Given the description of an element on the screen output the (x, y) to click on. 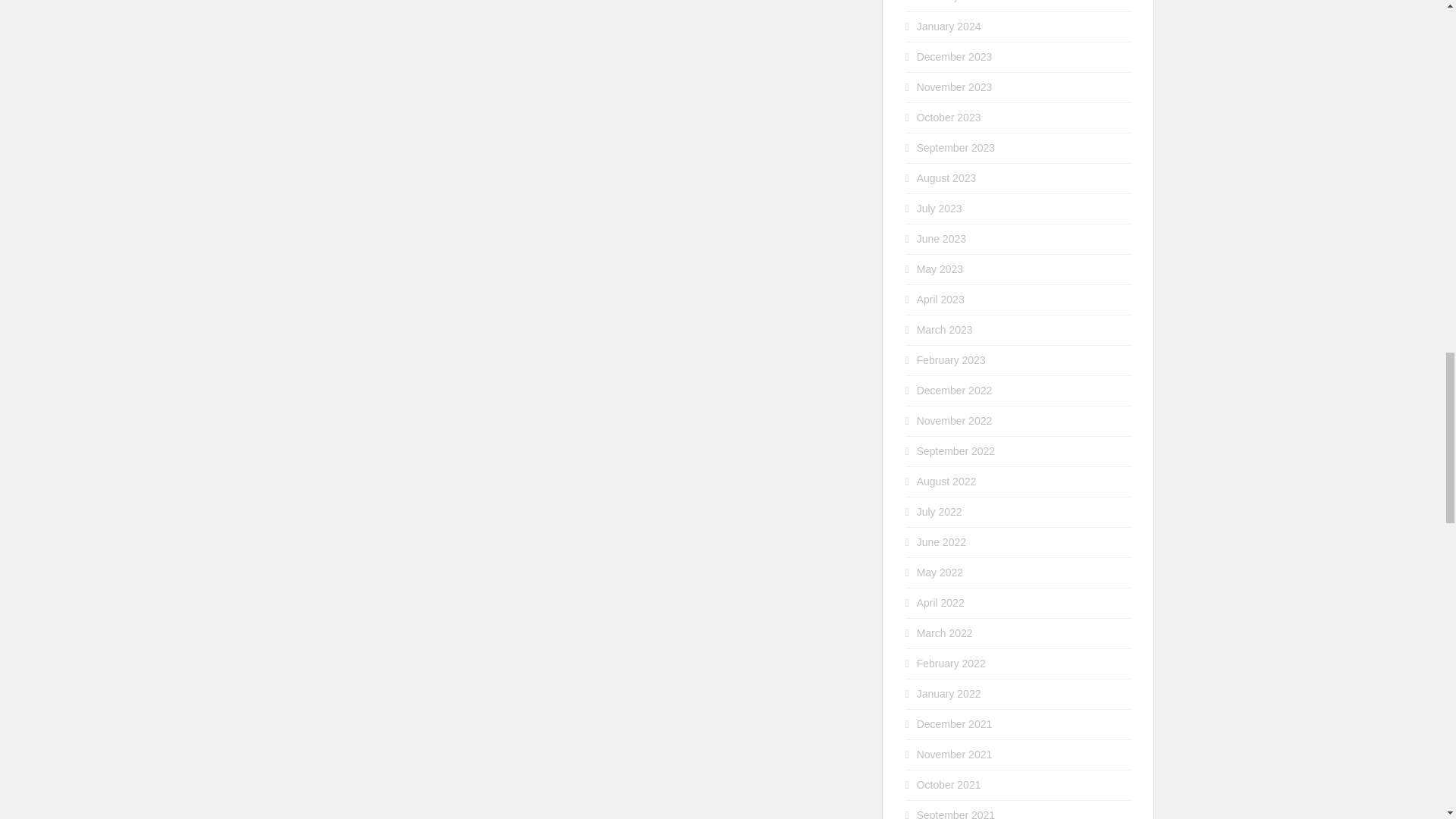
February 2024 (951, 1)
January 2024 (949, 26)
November 2023 (954, 87)
December 2023 (954, 56)
